Given the description of an element on the screen output the (x, y) to click on. 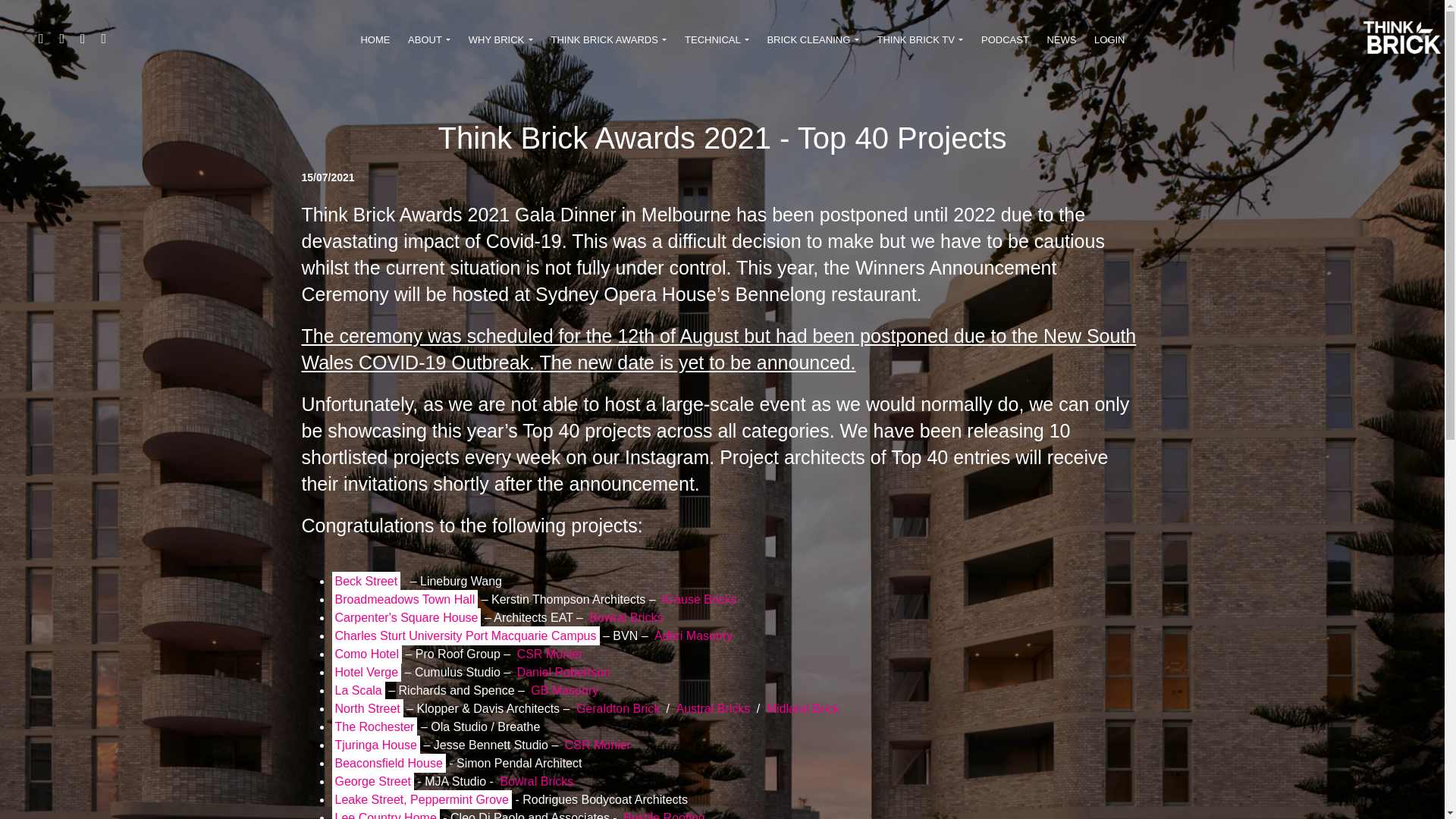
TECHNICAL (716, 40)
THINK BRICK TV (919, 40)
WHY BRICK (500, 40)
ABOUT (429, 40)
THINK BRICK AWARDS (609, 40)
HOME (375, 40)
BRICK CLEANING (812, 40)
